Given the description of an element on the screen output the (x, y) to click on. 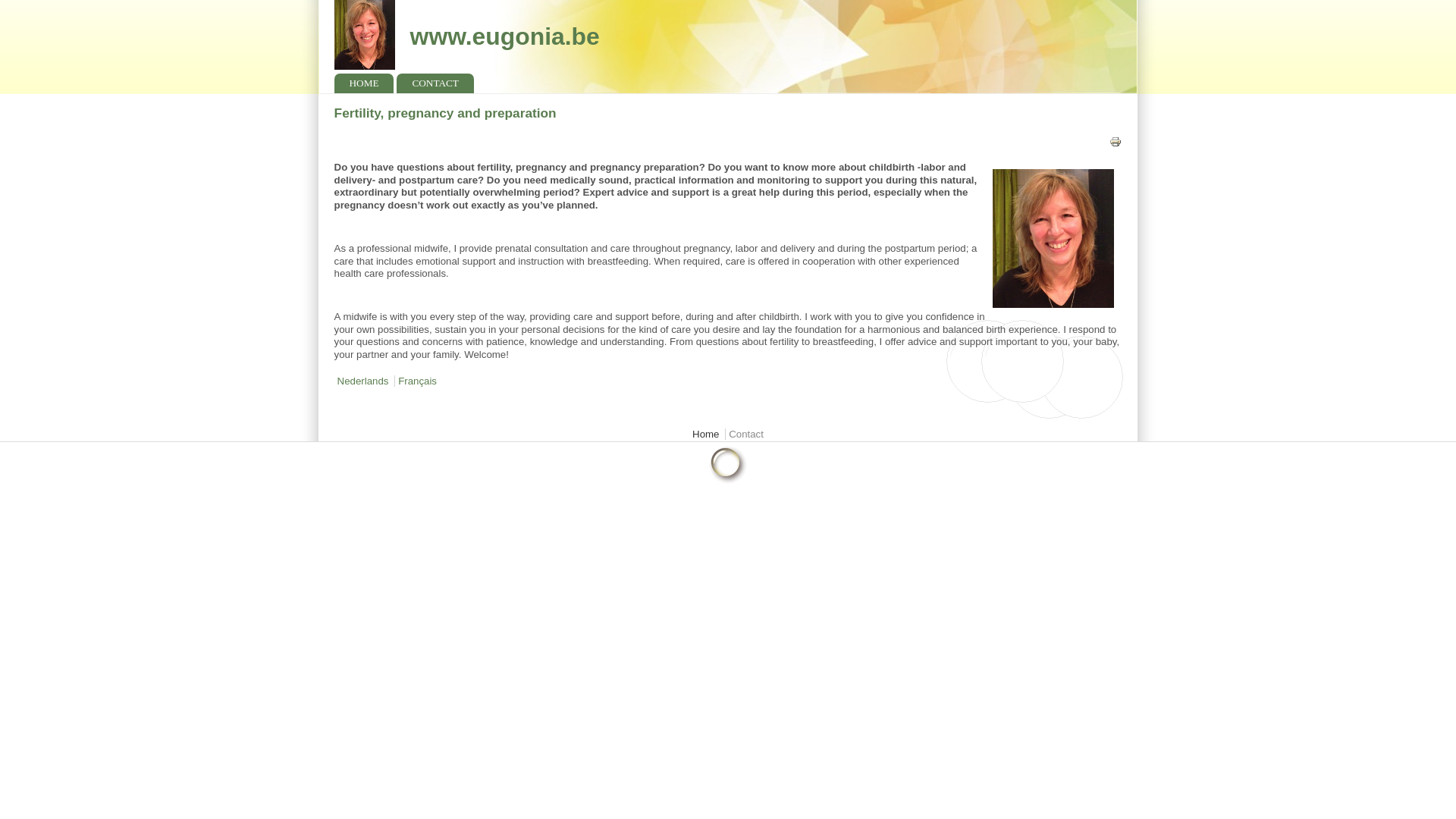
Home (706, 433)
www.eugonia.be (504, 35)
Contact (745, 433)
Vruchtbaarheid, zwangerschap en voorbereiding (362, 380)
Home (504, 35)
Skip to search (32, 0)
CONTACT (434, 83)
Printer-friendly version (1115, 141)
Display a printer-friendly version of this page. (1115, 143)
Nederlands (362, 380)
HOME (364, 83)
